Given the description of an element on the screen output the (x, y) to click on. 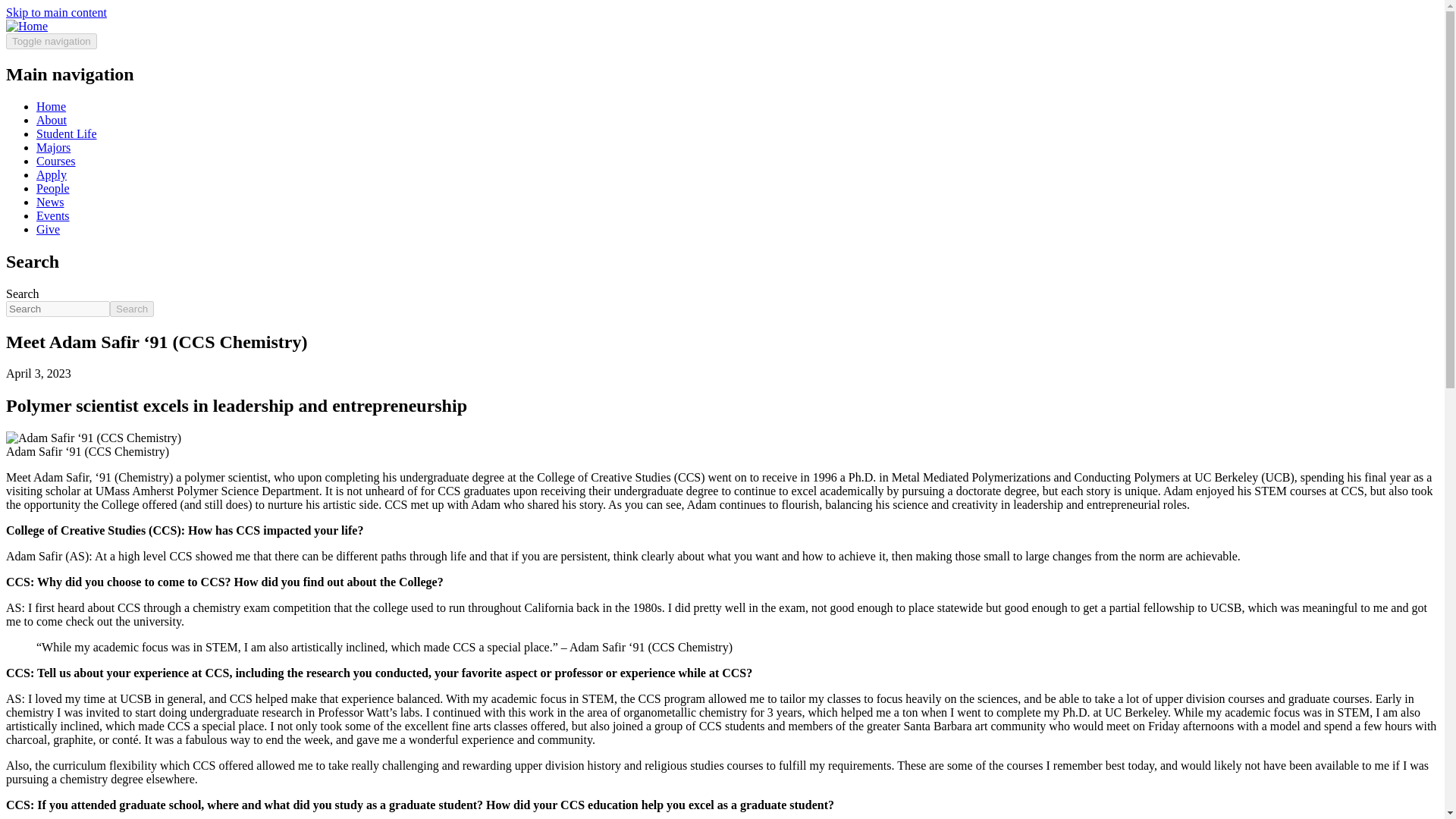
Toggle navigation (51, 41)
Search (132, 308)
Apply (51, 174)
Events (52, 215)
Skip to main content (55, 11)
Enter the terms you wish to search for. (57, 308)
Courses (55, 160)
People (52, 187)
Majors (52, 146)
Home (50, 106)
Give (47, 228)
News (50, 201)
Student Life (66, 133)
About (51, 119)
Home (26, 25)
